Given the description of an element on the screen output the (x, y) to click on. 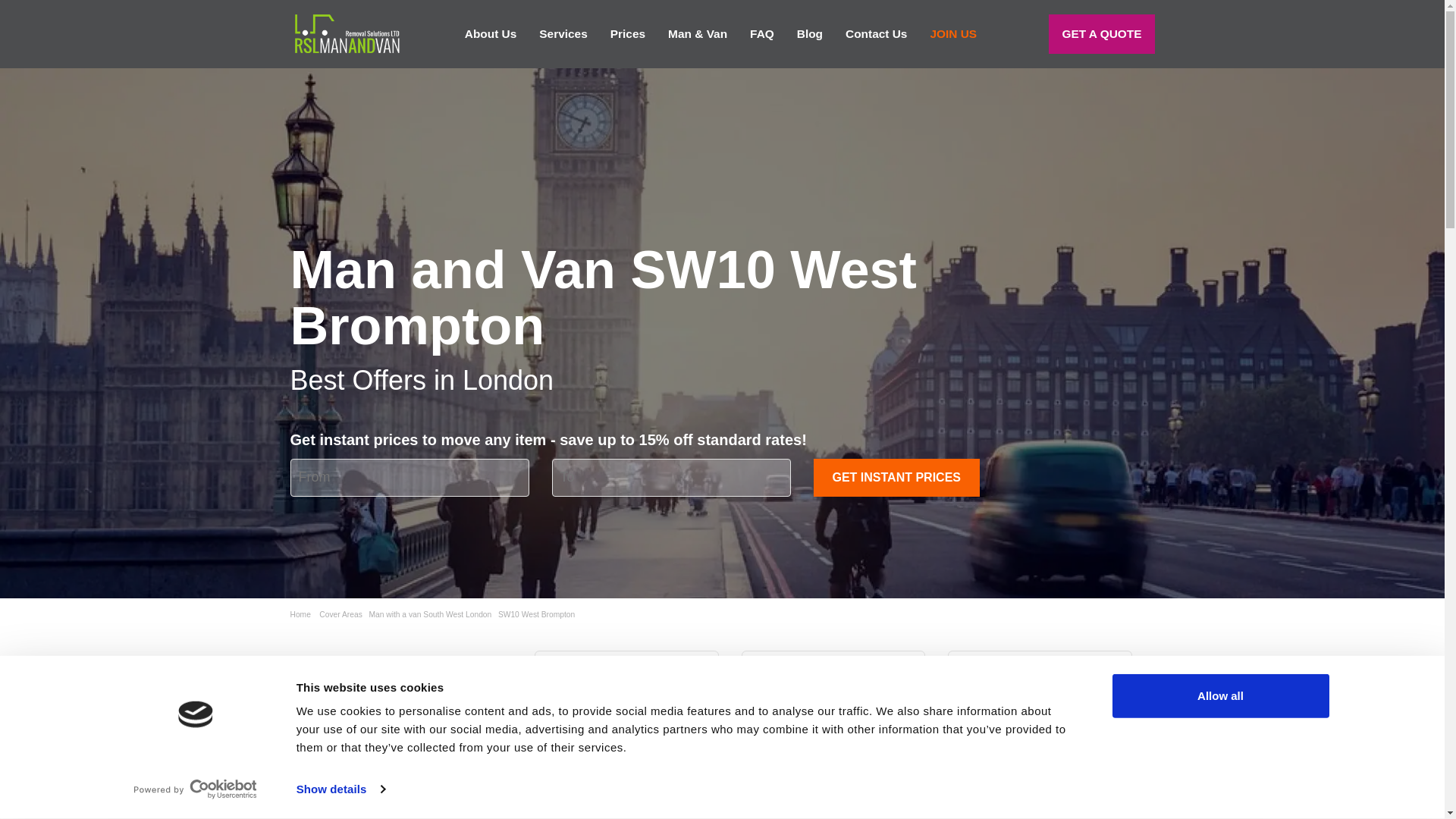
Removal company RSLManAndVan (346, 33)
Show details (340, 789)
Customer reviews powered by Trustpilot (389, 712)
Allow all (1219, 696)
